Given the description of an element on the screen output the (x, y) to click on. 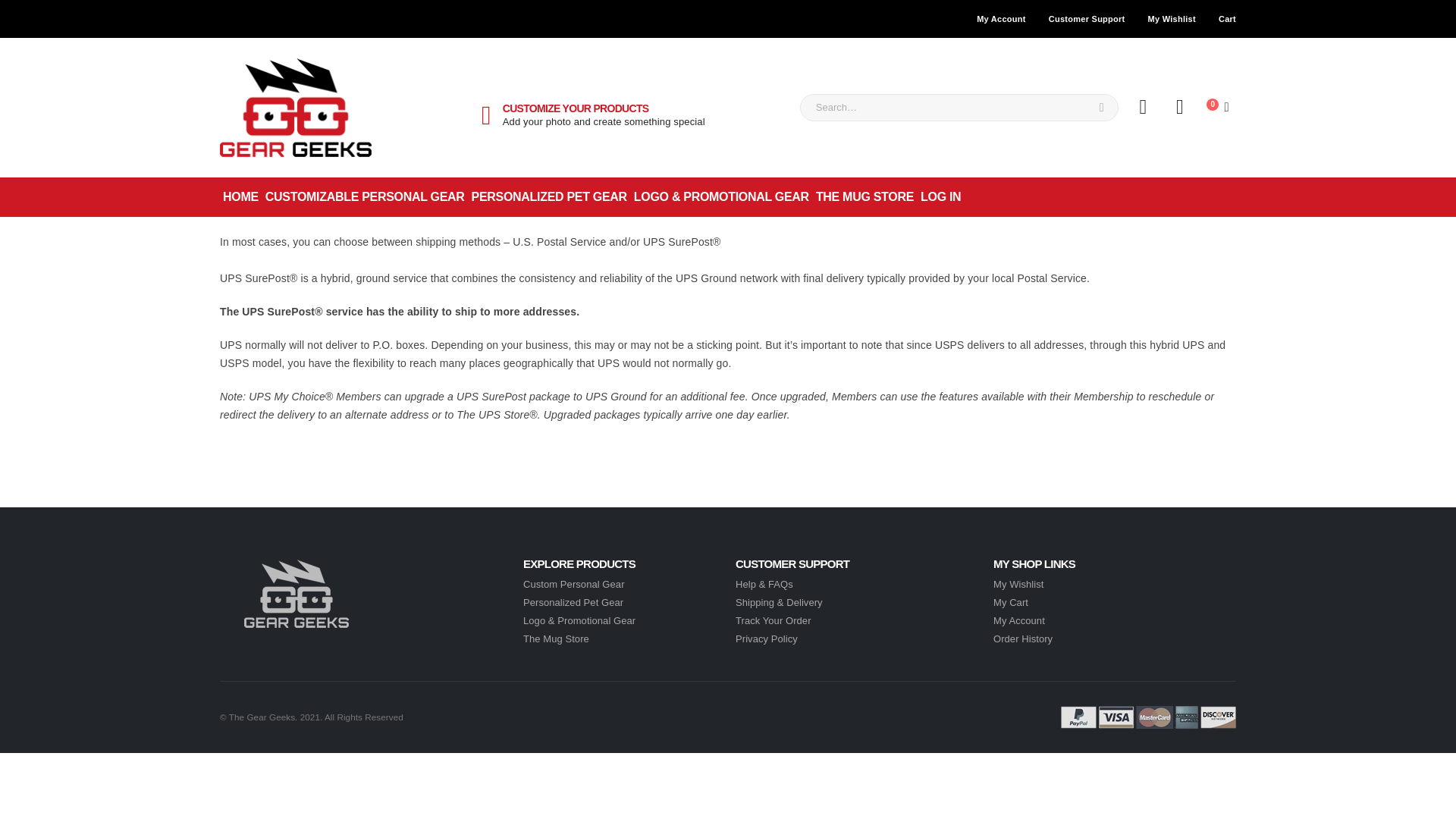
My Account (1018, 620)
Wishlist (1179, 107)
My Wishlist (1017, 583)
PERSONALIZED PET GEAR (549, 197)
Personalized Pet Gear (572, 602)
Privacy Policy (766, 638)
Order History (1022, 638)
HOME (240, 197)
My Wishlist (1172, 18)
Search (1101, 107)
